Given the description of an element on the screen output the (x, y) to click on. 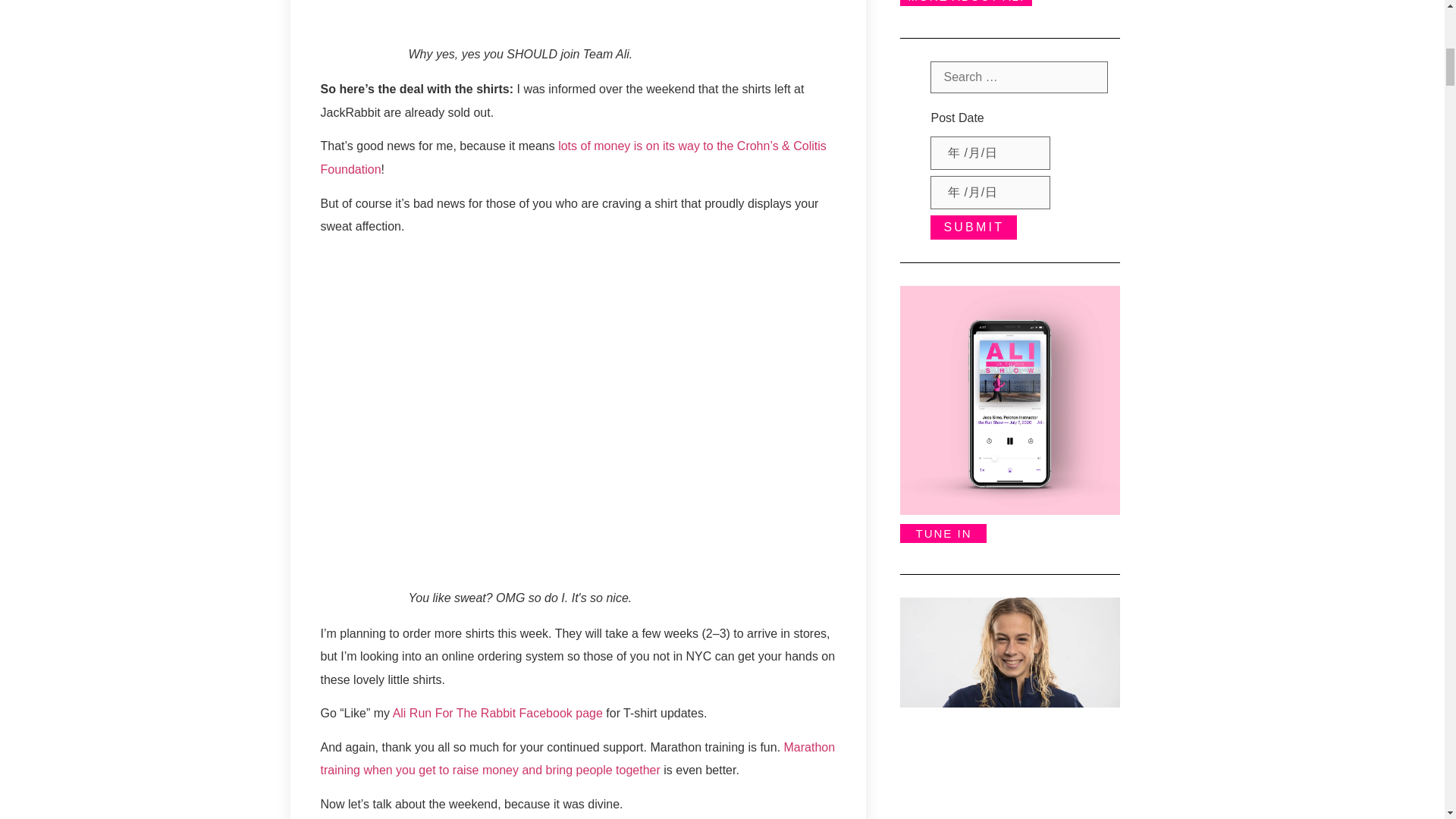
Submit (973, 227)
Ali Run For The Rabbit Facebook page (497, 712)
